Given the description of an element on the screen output the (x, y) to click on. 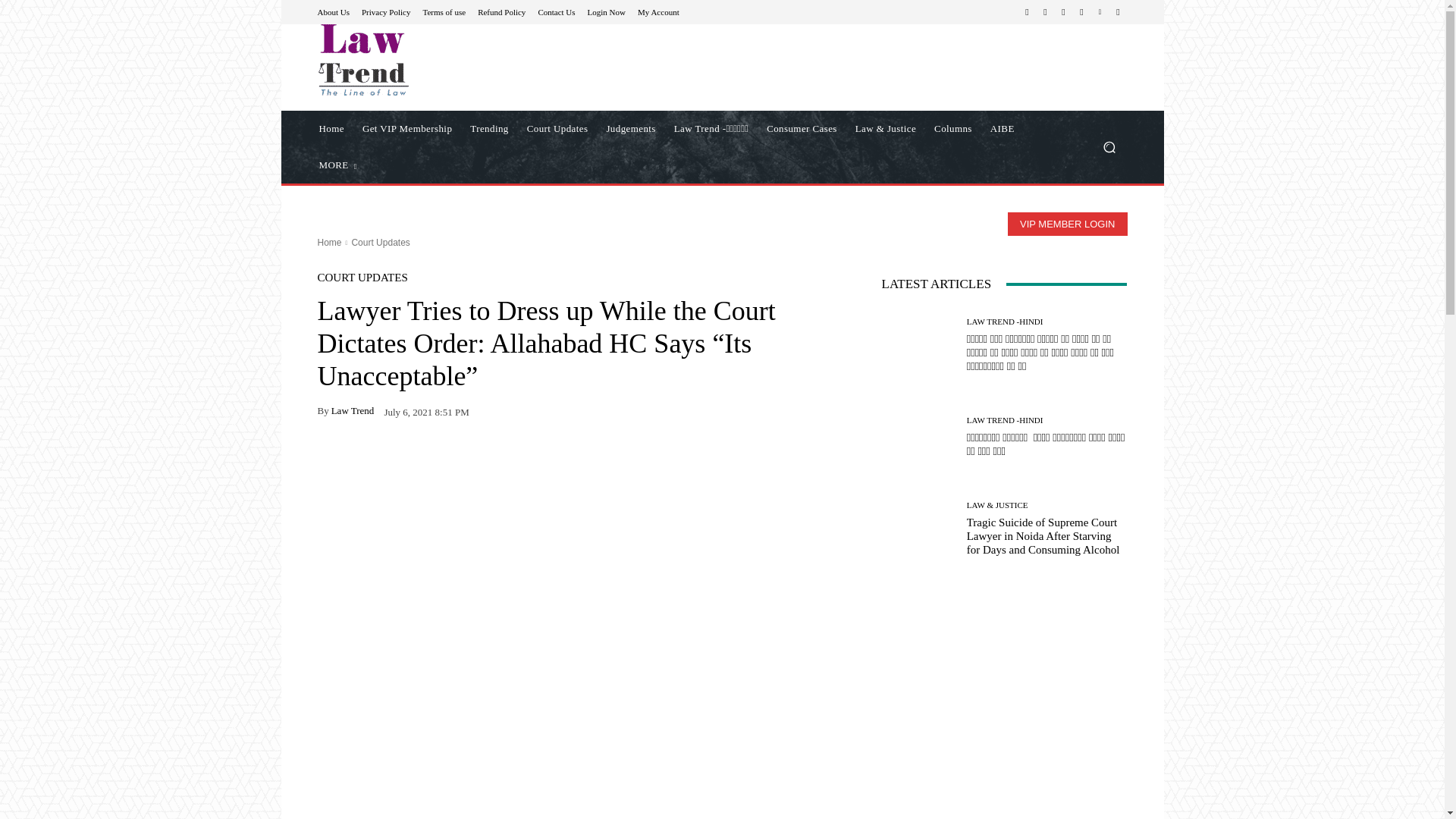
Law Trend- Legal News Website (362, 59)
About Us (333, 11)
Law Trend- Legal News Website (425, 59)
Twitter (1080, 12)
Contact Us (556, 11)
Telegram (1062, 12)
Login Now (607, 11)
Terms of use (443, 11)
Refund Policy (501, 11)
Instagram (1044, 12)
Vimeo (1099, 12)
Facebook (1026, 12)
My Account (658, 11)
Youtube (1117, 12)
Privacy Policy (385, 11)
